Given the description of an element on the screen output the (x, y) to click on. 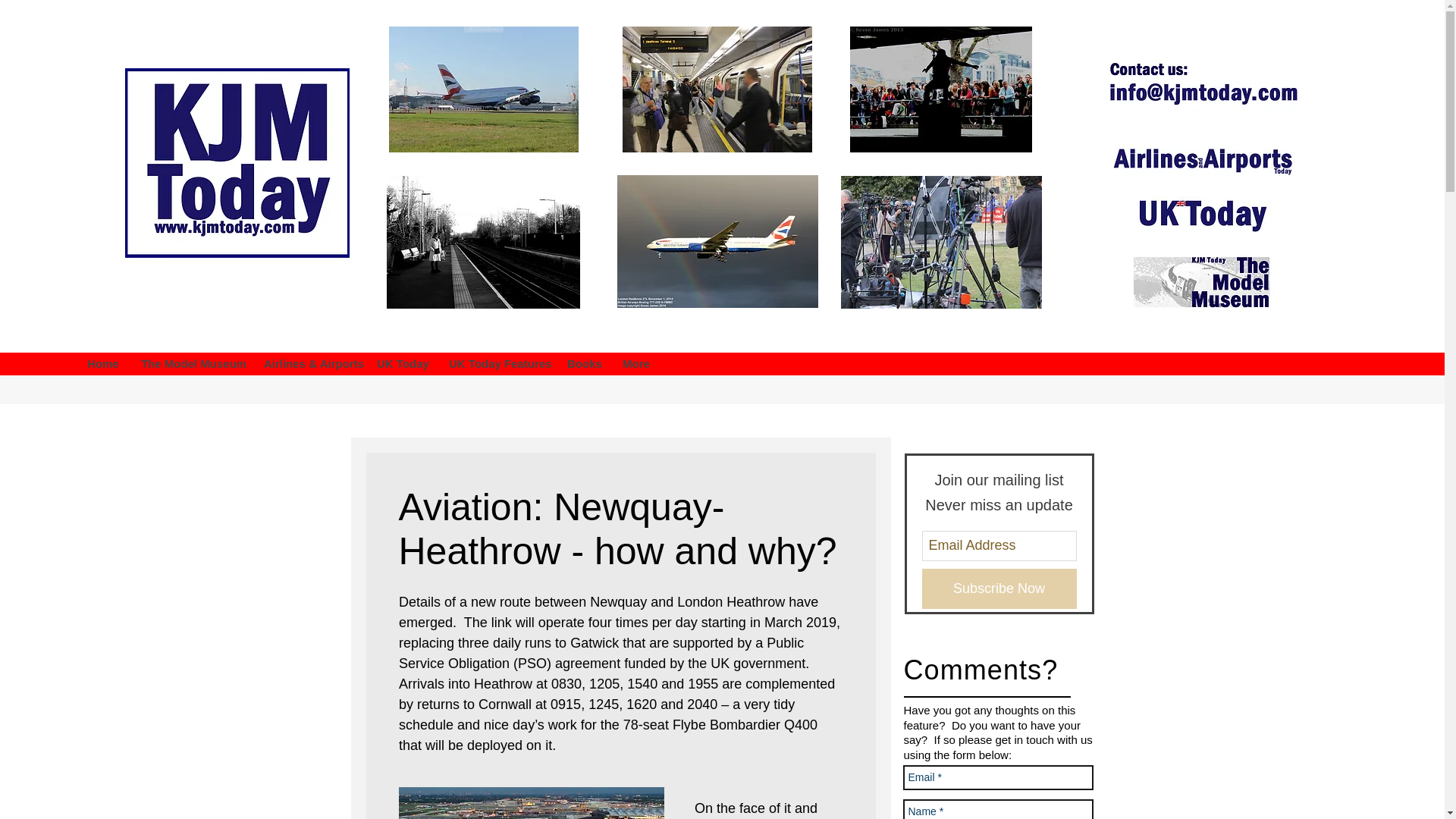
The Model Museum (190, 363)
Home (102, 363)
Subscribe Now (999, 588)
